Given the description of an element on the screen output the (x, y) to click on. 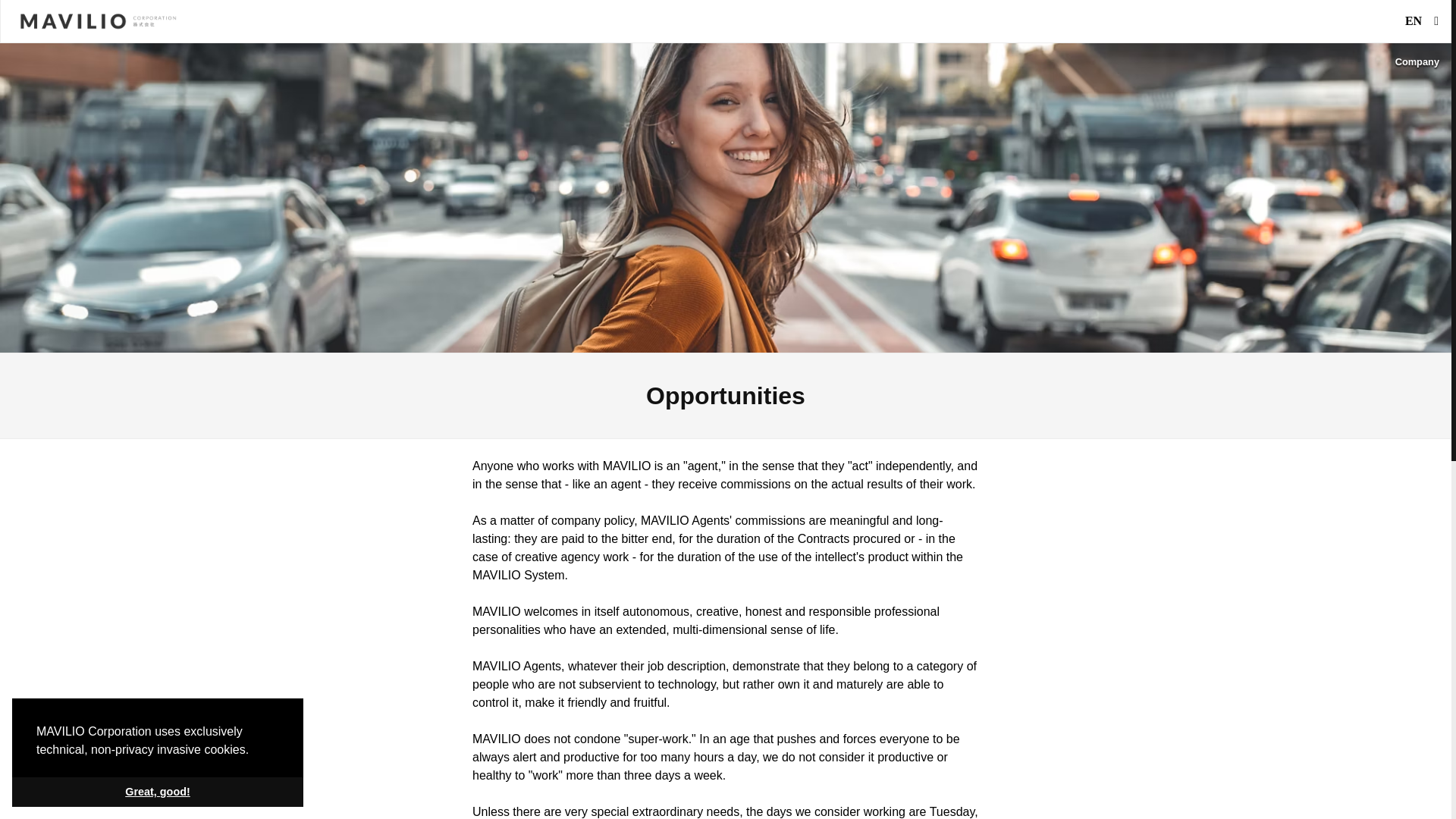
Great, good! (156, 791)
